Given the description of an element on the screen output the (x, y) to click on. 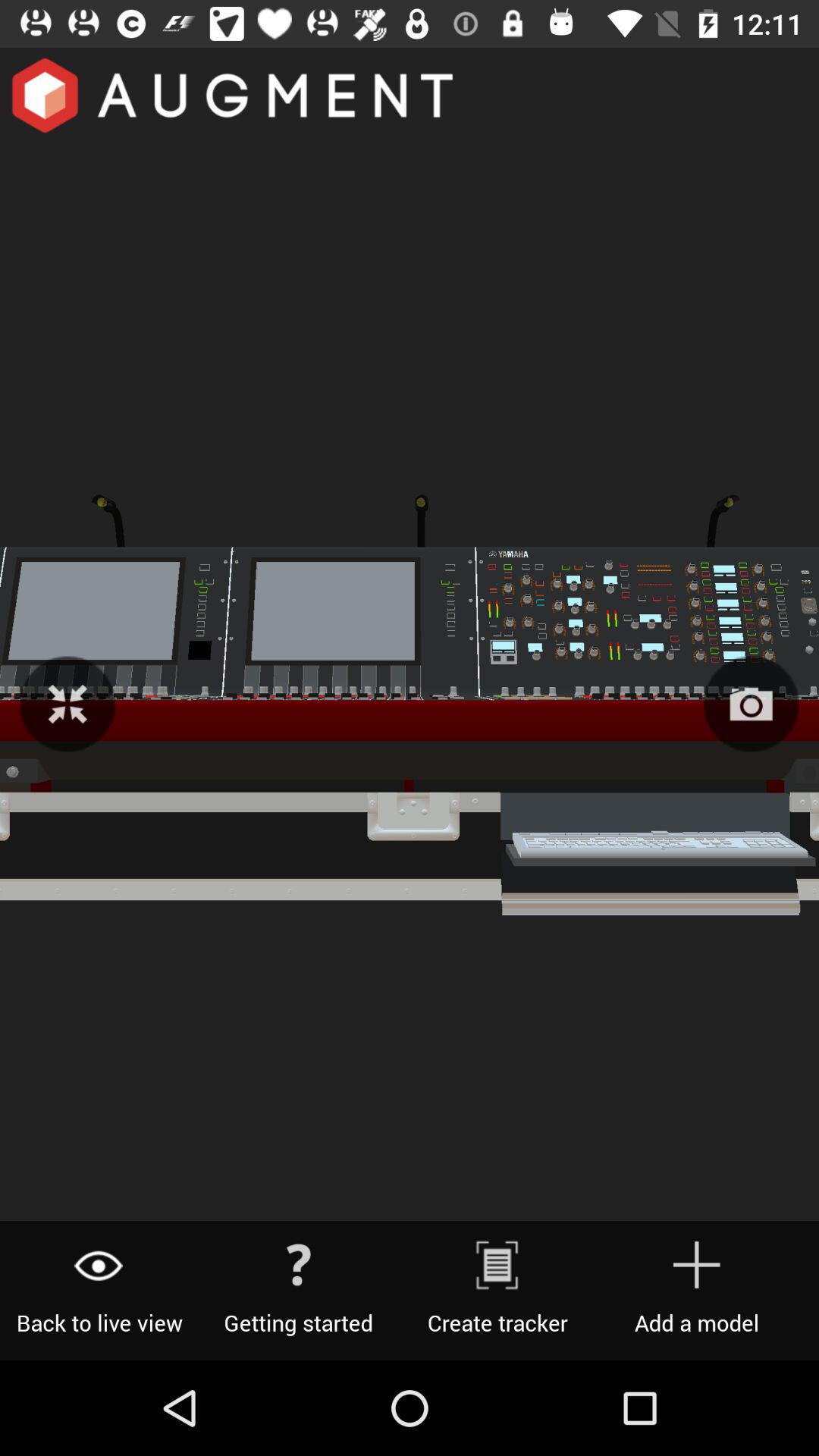
select the camera (751, 703)
